Given the description of an element on the screen output the (x, y) to click on. 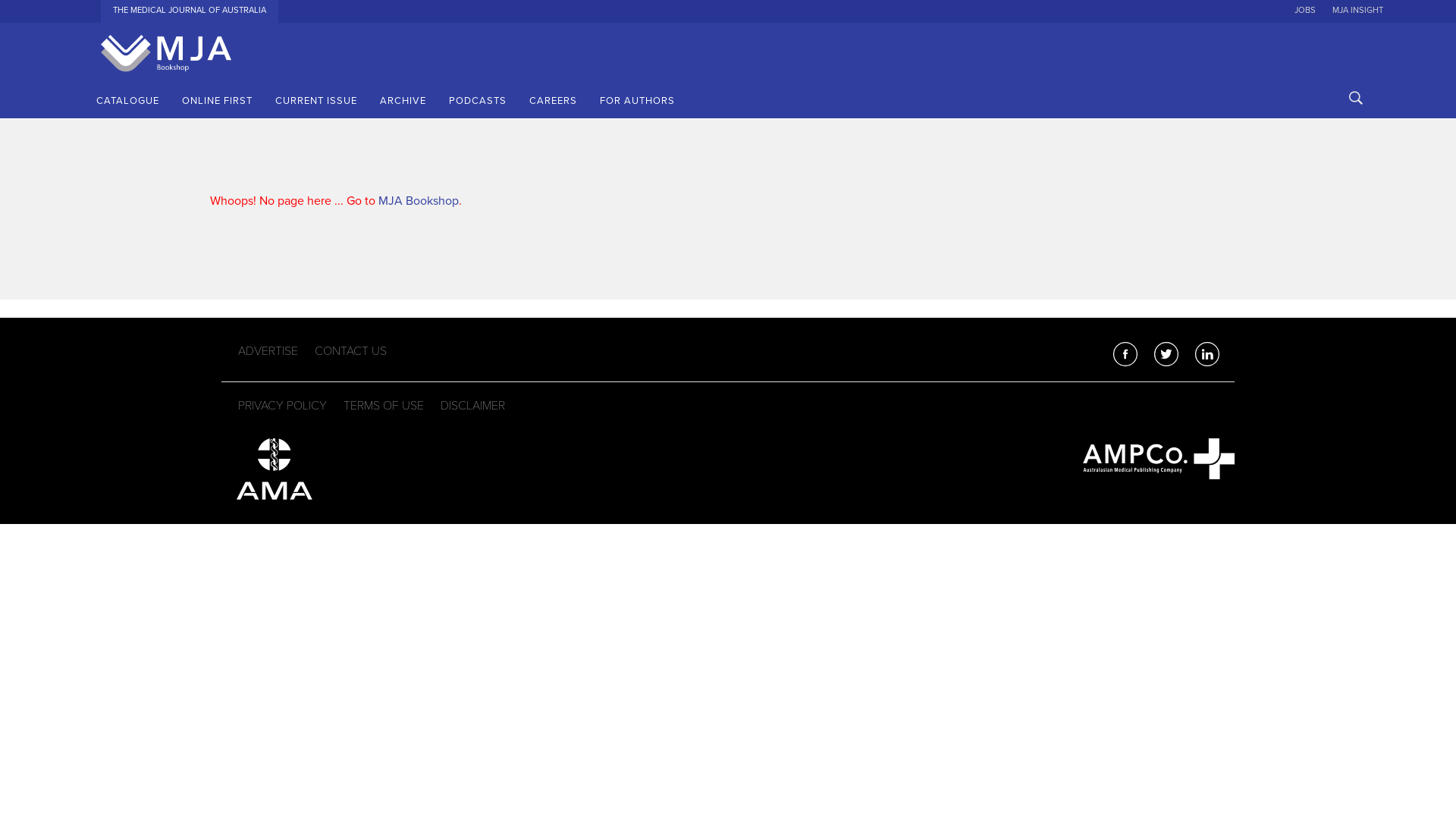
FOR AUTHORS Element type: text (637, 101)
ADVERTISE Element type: text (268, 351)
ONLINE FIRST Element type: text (216, 101)
JOBS Element type: text (1304, 7)
PRIVACY POLICY Element type: text (282, 406)
DISCLAIMER Element type: text (472, 406)
MJA Bookshop Element type: text (418, 200)
CAREERS Element type: text (552, 101)
CONTACT US Element type: text (350, 351)
CATALOGUE Element type: text (127, 101)
ARCHIVE Element type: text (402, 101)
PODCASTS Element type: text (477, 101)
THE MEDICAL JOURNAL OF AUSTRALIA Element type: text (189, 7)
CURRENT ISSUE Element type: text (315, 101)
TERMS OF USE Element type: text (383, 406)
MJA INSIGHT Element type: text (1357, 7)
